Given the description of an element on the screen output the (x, y) to click on. 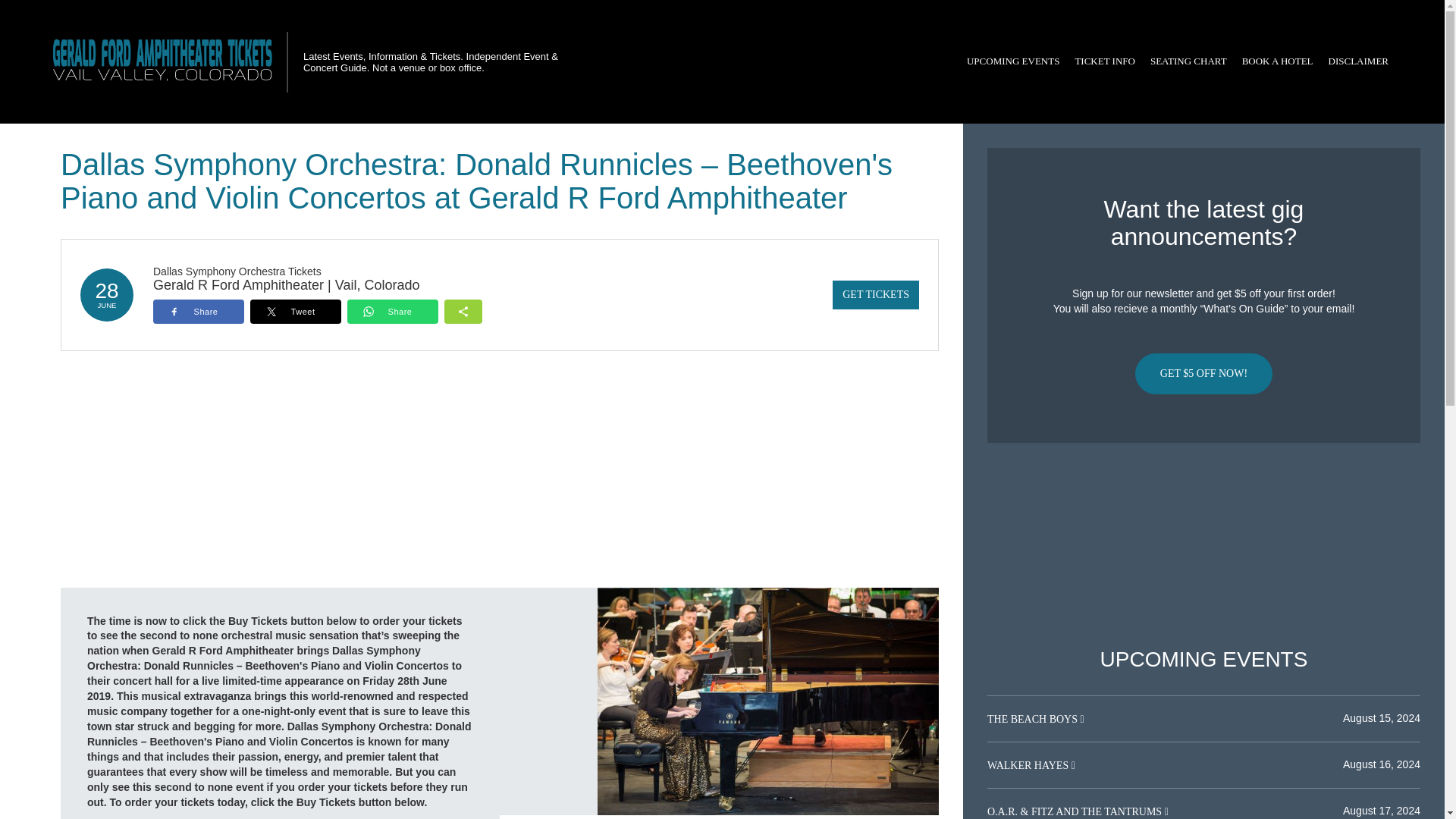
THE BEACH BOYS (1033, 718)
Dallas Symphony Orchestra Tickets (236, 271)
WALKER HAYES (1029, 765)
TICKET INFO (1104, 61)
SEATING CHART (1188, 61)
DISCLAIMER (1358, 61)
GET TICKETS (875, 294)
UPCOMING EVENTS (1013, 61)
